Given the description of an element on the screen output the (x, y) to click on. 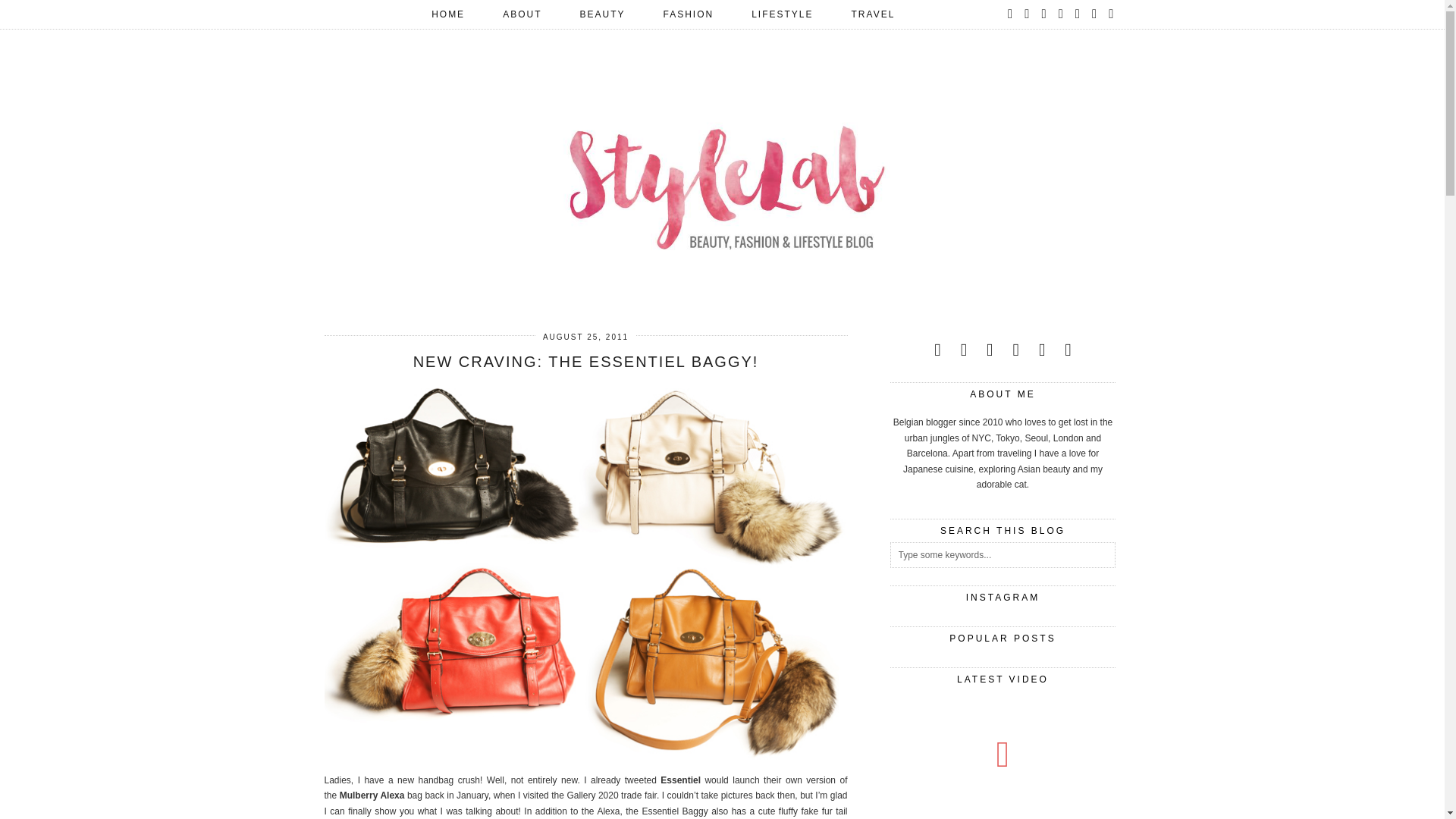
ABOUT (521, 14)
About StyleLab (521, 14)
FASHION (687, 14)
HOME (447, 14)
BEAUTY (601, 14)
